Given the description of an element on the screen output the (x, y) to click on. 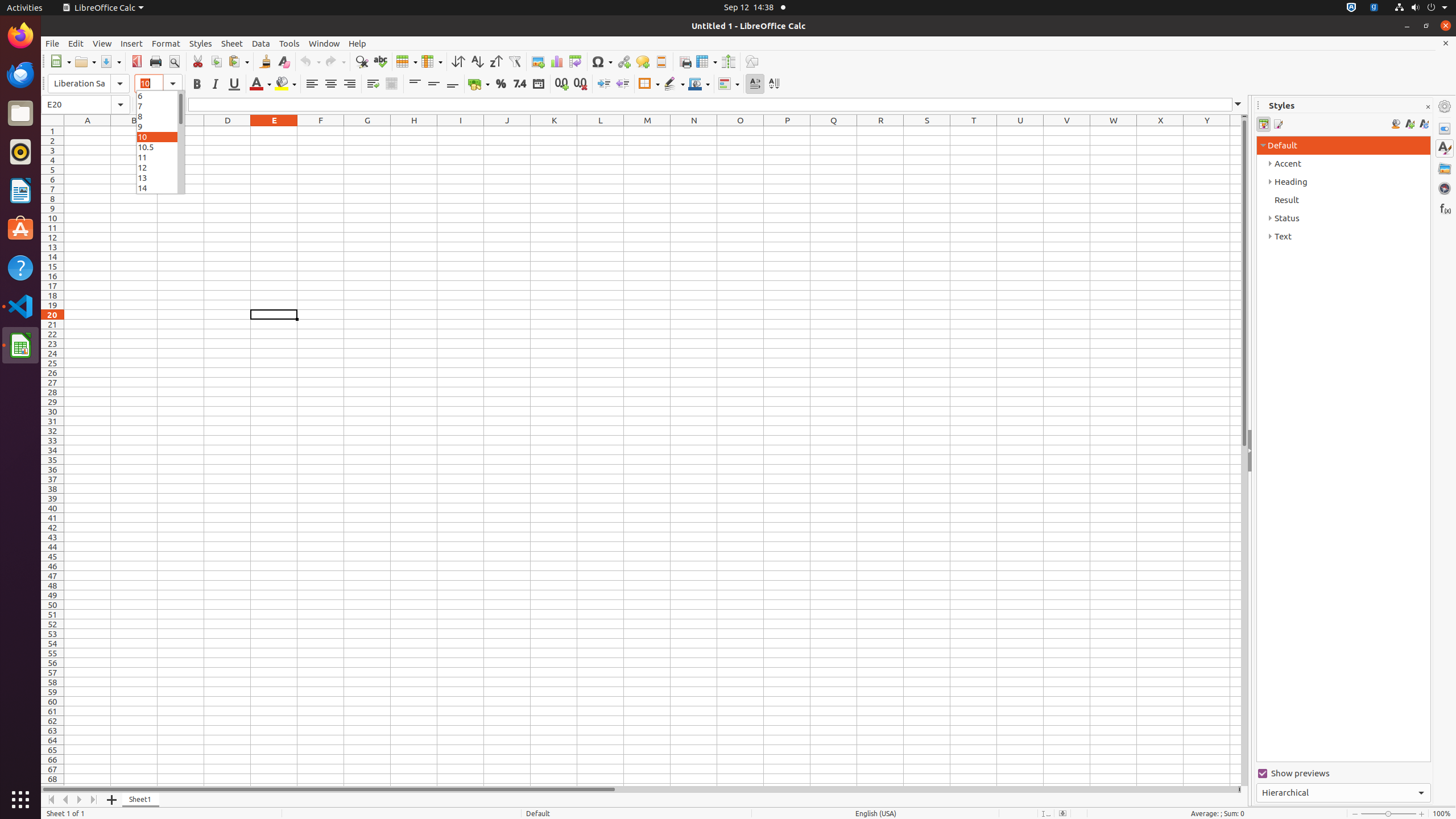
Save Element type: push-button (109, 61)
Move To End Element type: push-button (94, 799)
L1 Element type: table-cell (600, 130)
Tools Element type: menu (289, 43)
LibreOffice Calc Element type: menu (102, 7)
